Given the description of an element on the screen output the (x, y) to click on. 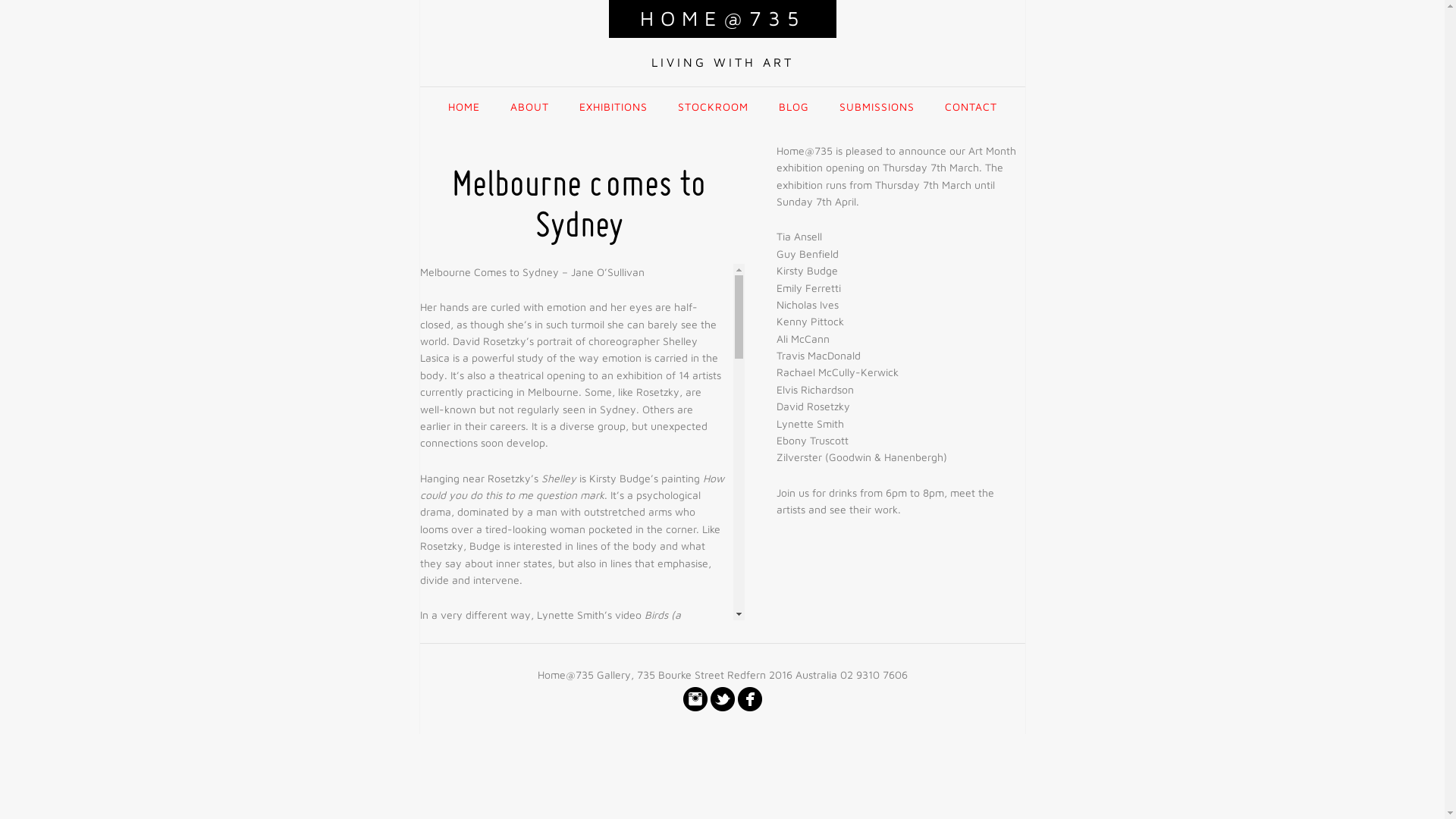
EXHIBITIONS Element type: text (613, 106)
BLOG Element type: text (792, 106)
STOCKROOM Element type: text (712, 106)
Skip to content Element type: text (721, 87)
ABOUT Element type: text (528, 106)
HOME Element type: text (463, 106)
SUBMISSIONS Element type: text (875, 106)
CONTACT Element type: text (970, 106)
HOME@735 Element type: text (722, 18)
